Given the description of an element on the screen output the (x, y) to click on. 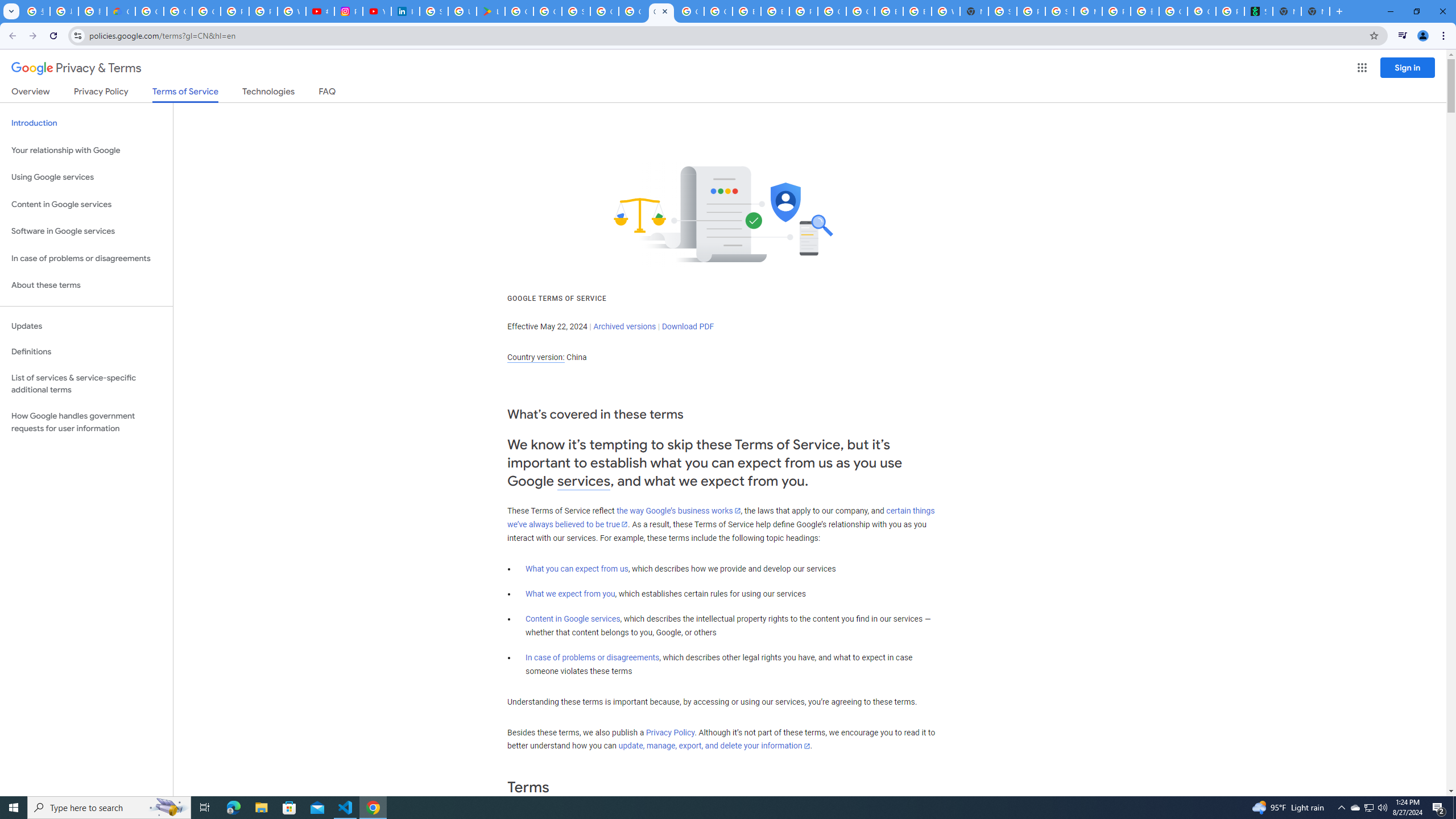
Sign in - Google Accounts (575, 11)
services (583, 480)
Country version: (535, 357)
In case of problems or disagreements (592, 657)
Browse Chrome as a guest - Computer - Google Chrome Help (746, 11)
